Given the description of an element on the screen output the (x, y) to click on. 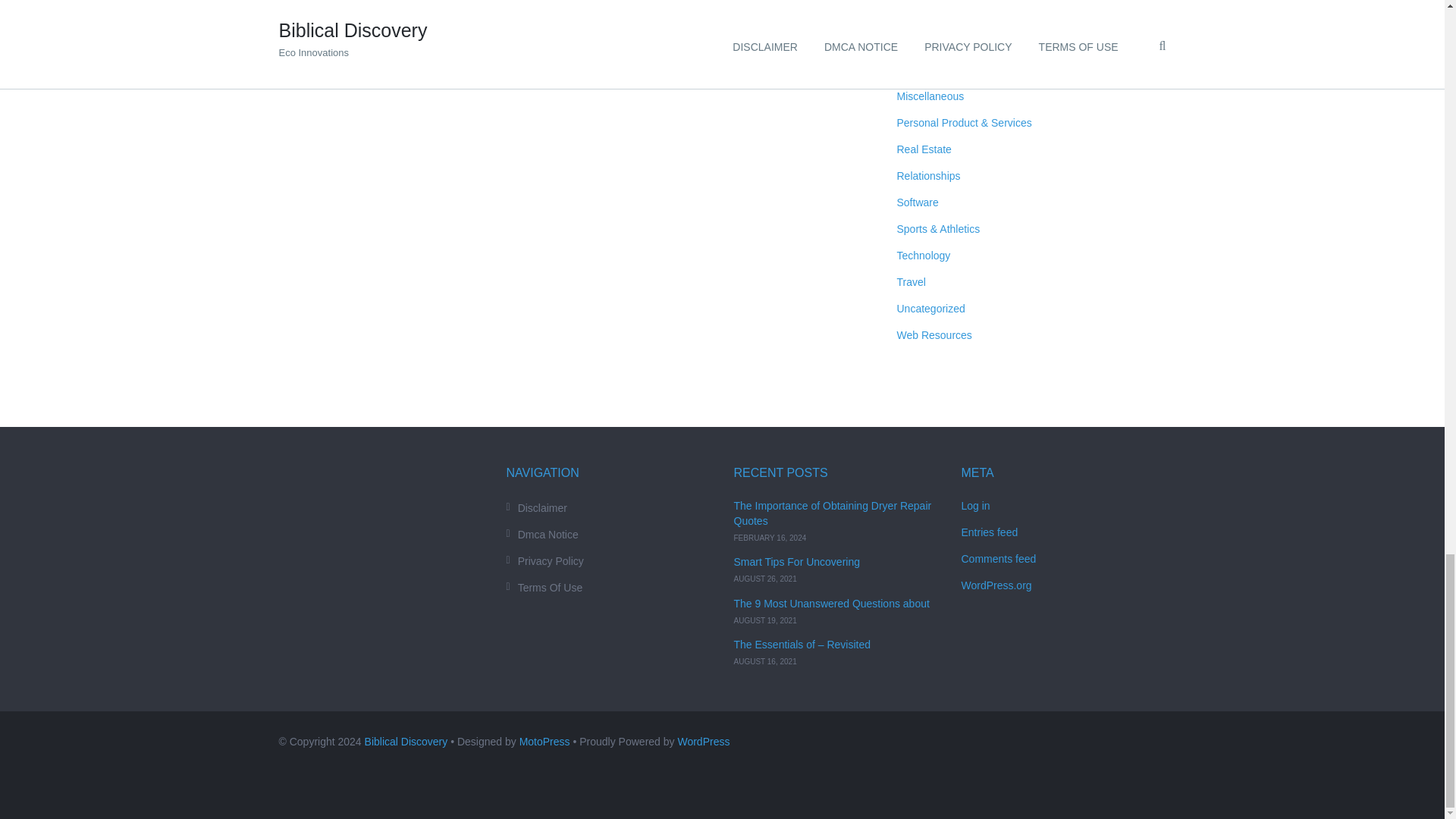
Premium WordPress Plugins and Themes (544, 741)
Biblical Discovery (406, 741)
Semantic Personal Publishing Platform (703, 741)
